Given the description of an element on the screen output the (x, y) to click on. 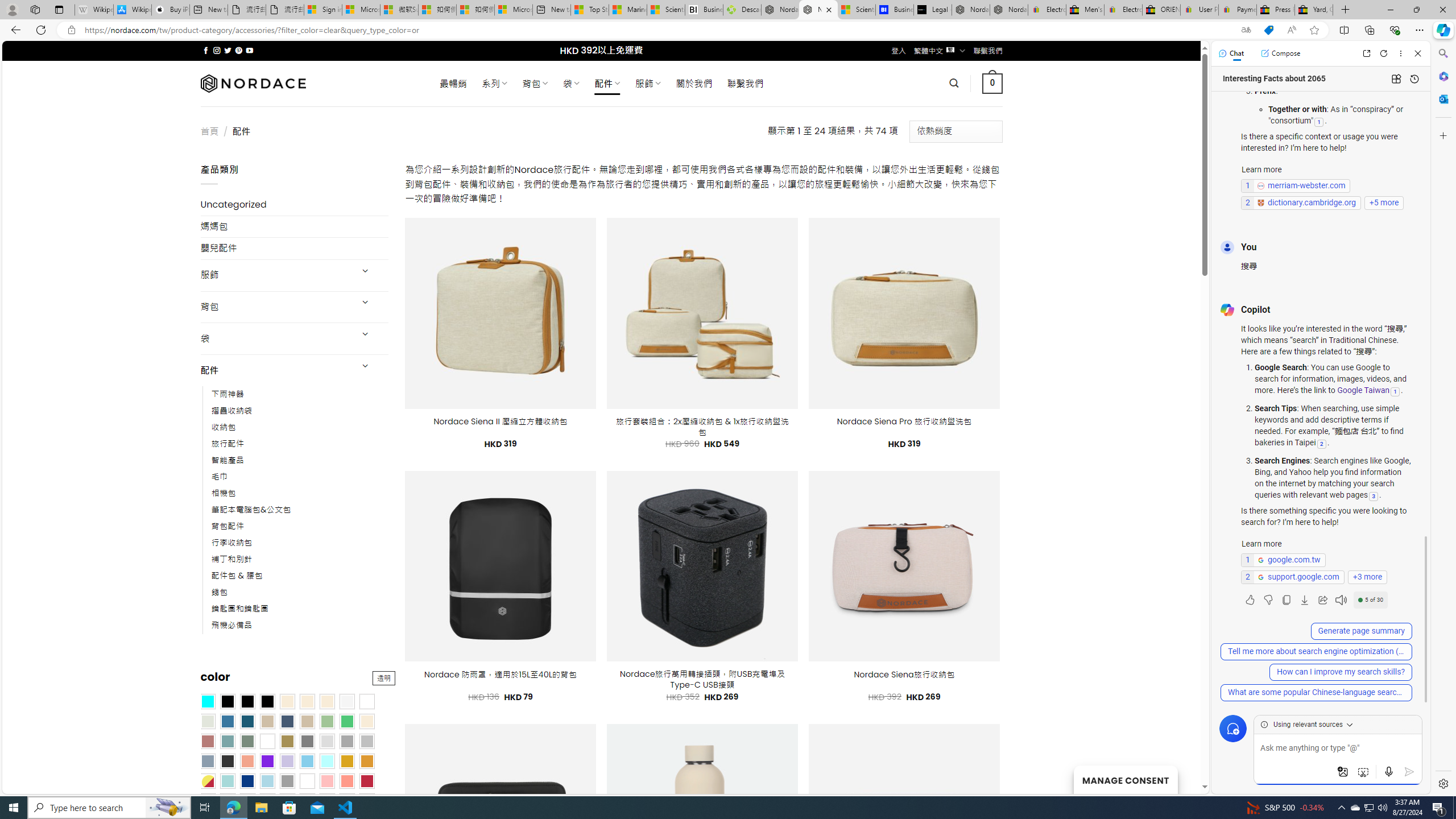
Microsoft account | Account Checkup (513, 9)
Nordace - Summer Adventures 2024 (780, 9)
